Given the description of an element on the screen output the (x, y) to click on. 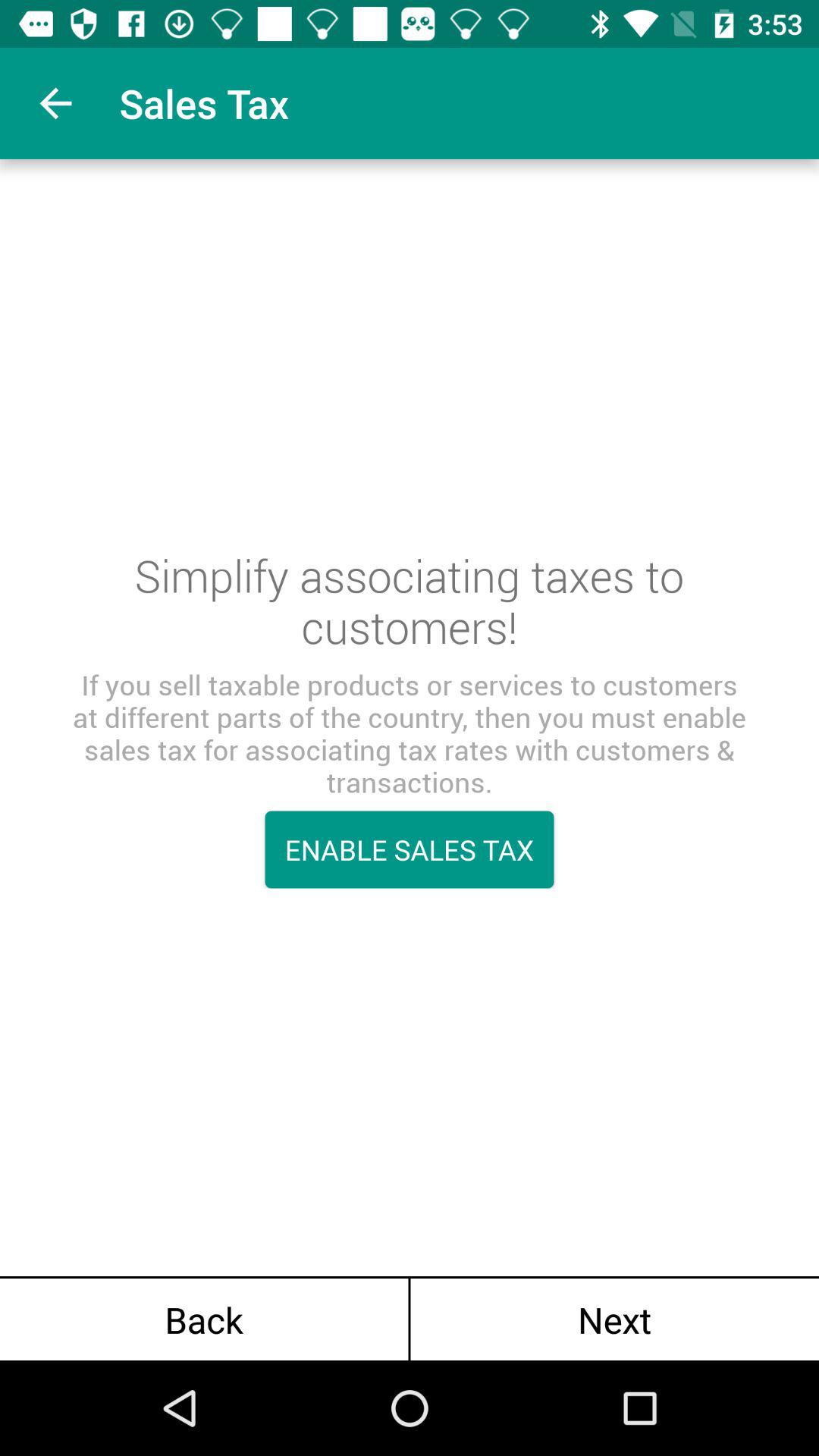
turn on the back item (204, 1319)
